Given the description of an element on the screen output the (x, y) to click on. 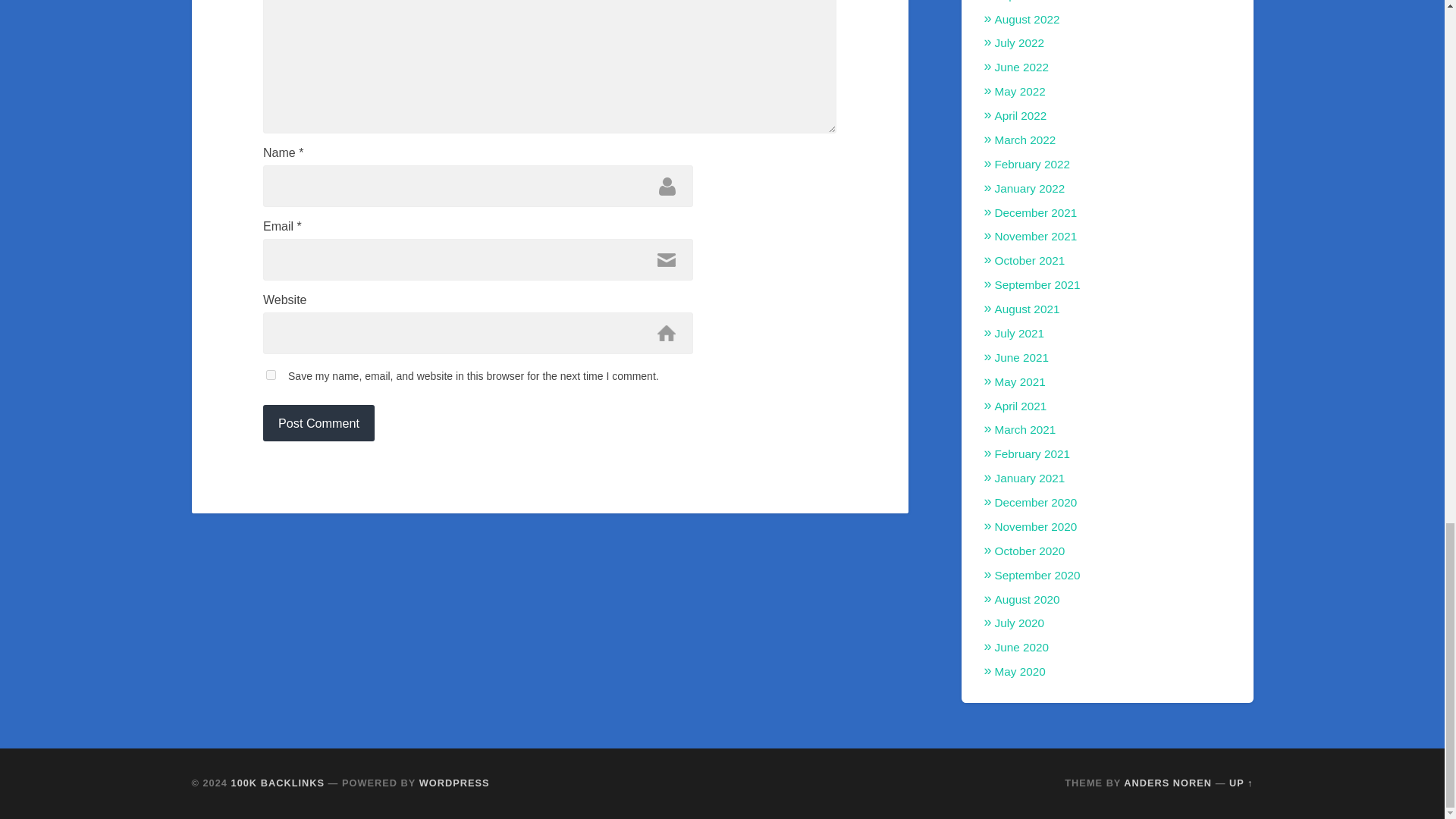
Post Comment (318, 422)
yes (271, 375)
Post Comment (318, 422)
